Given the description of an element on the screen output the (x, y) to click on. 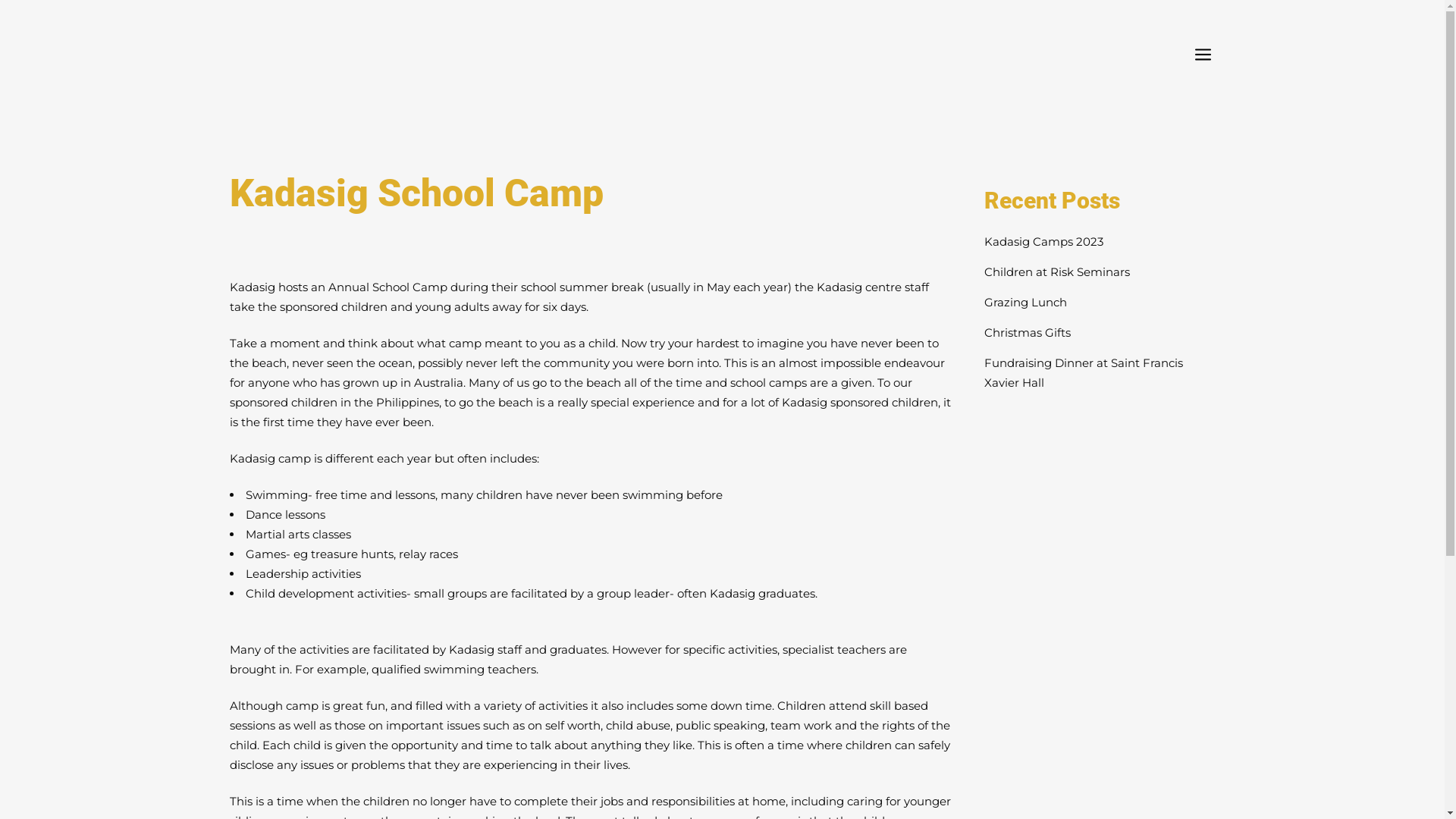
Fundraising Dinner at Saint Francis Xavier Hall Element type: text (1083, 372)
Christmas Gifts Element type: text (1027, 332)
Kadasig Camps 2023 Element type: text (1043, 241)
Children at Risk Seminars Element type: text (1056, 271)
Grazing Lunch Element type: text (1025, 301)
